Given the description of an element on the screen output the (x, y) to click on. 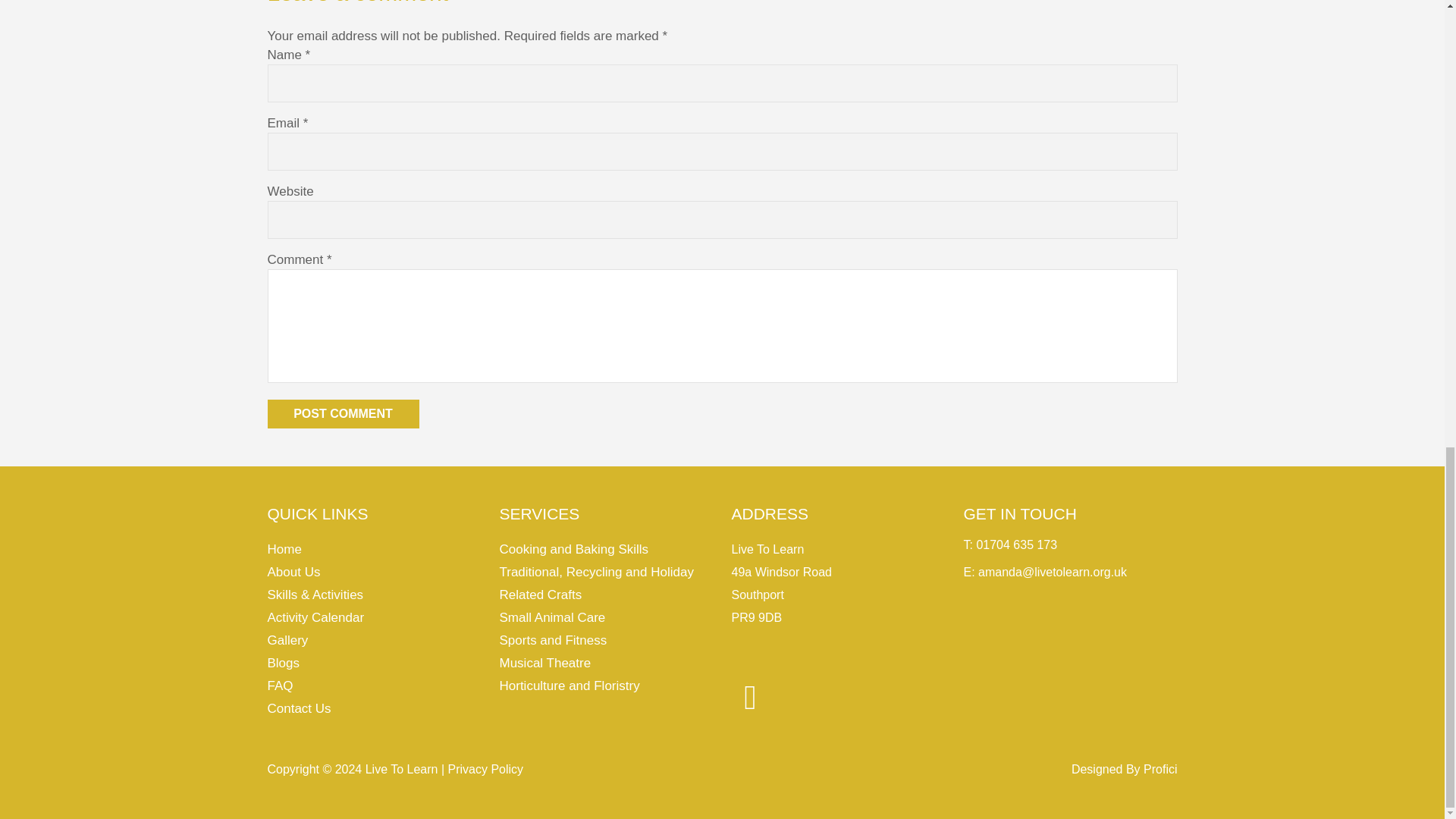
Gallery (286, 640)
T: 01704 635 173 (1009, 544)
Horticulture and Floristry (569, 685)
Profici (1159, 768)
FAQ (279, 685)
About Us (293, 572)
Blogs (282, 663)
Post Comment (342, 413)
Cooking and Baking Skills (573, 549)
Contact Us (298, 708)
Activity Calendar (315, 617)
Home (283, 549)
Traditional, Recycling and Holiday Related Crafts (596, 583)
Musical Theatre (545, 663)
Sports and Fitness (553, 640)
